Given the description of an element on the screen output the (x, y) to click on. 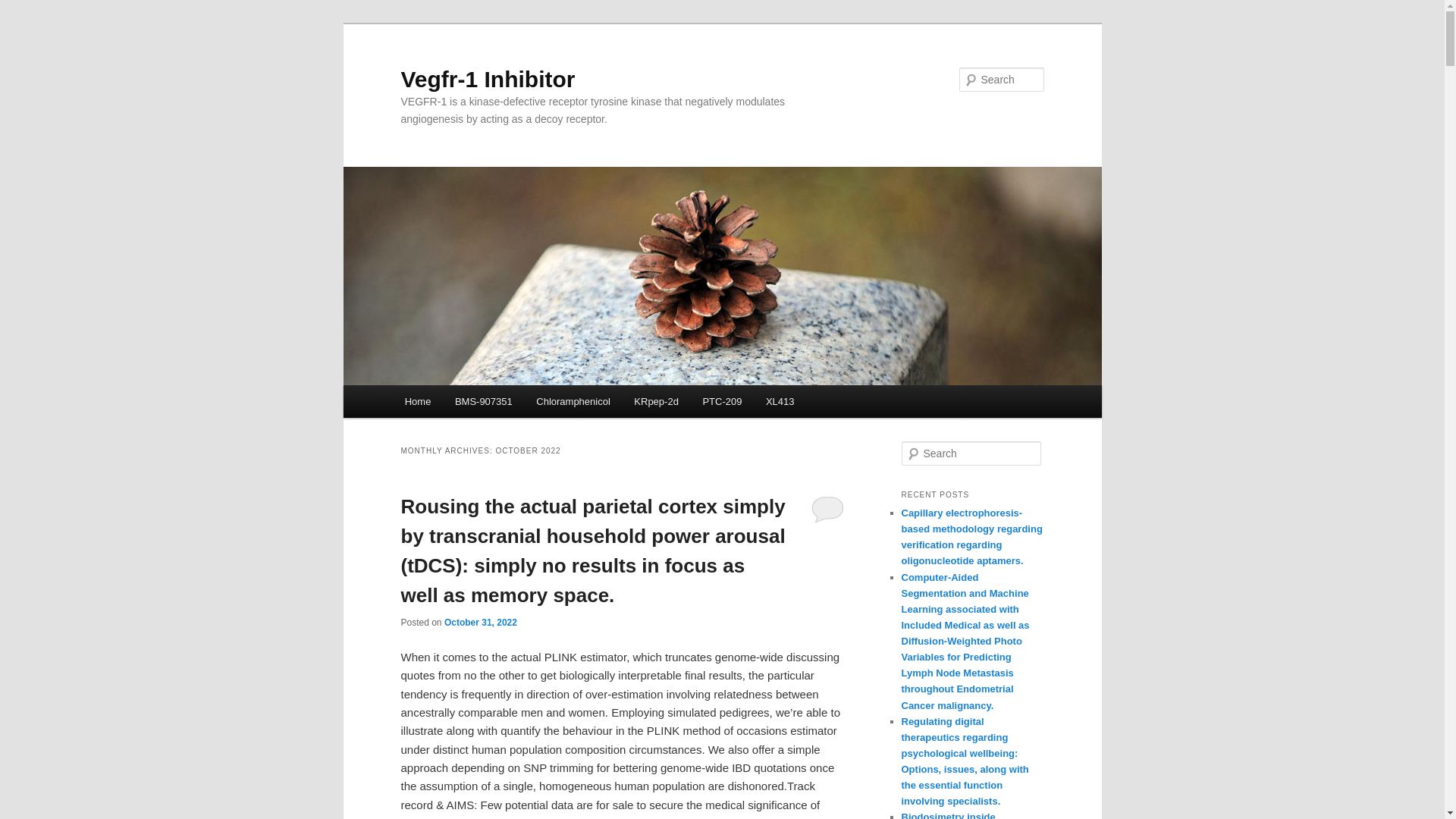
Skip to primary content (472, 403)
Skip to primary content (472, 403)
BMS-907351 (483, 400)
9:40 am (480, 622)
Chloramphenicol (573, 400)
Skip to secondary content (479, 403)
Search (24, 8)
Home (417, 400)
October 31, 2022 (480, 622)
XL413 (780, 400)
Home (417, 400)
Vegfr-1 Inhibitor (487, 78)
Vegfr-1 Inhibitor (487, 78)
KRpep-2d (656, 400)
PTC-209 (722, 400)
